Given the description of an element on the screen output the (x, y) to click on. 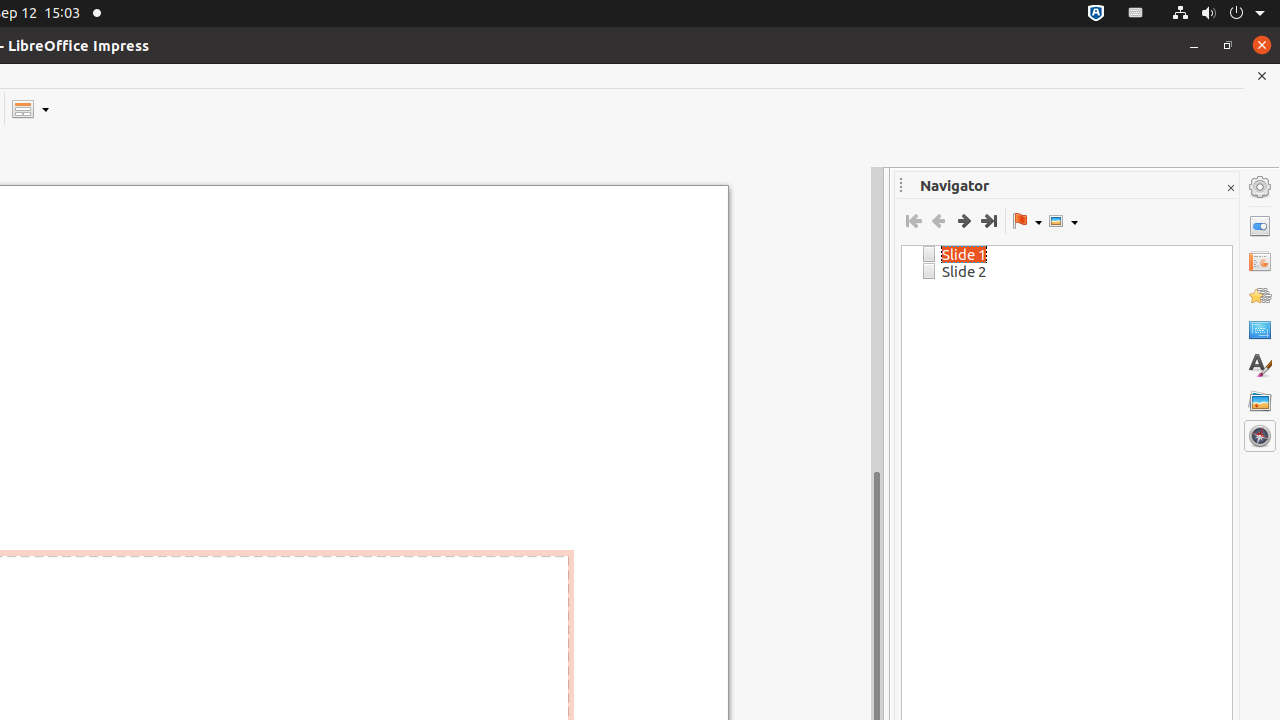
Last Slide Element type: push-button (988, 221)
Show Shapes Element type: push-button (1063, 221)
Properties Element type: radio-button (1260, 226)
Slide Transition Element type: radio-button (1260, 261)
Styles Element type: radio-button (1260, 366)
